Given the description of an element on the screen output the (x, y) to click on. 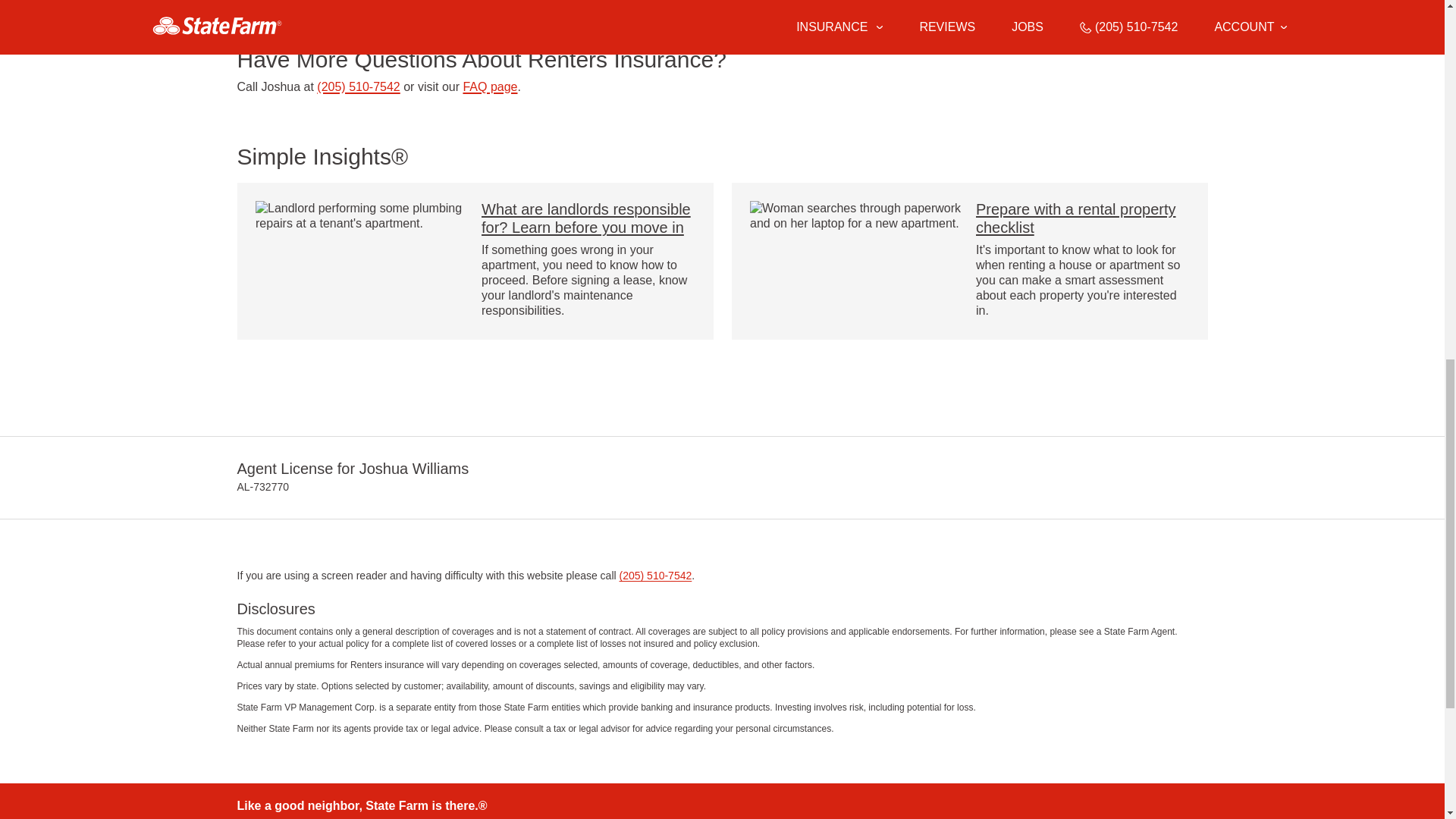
FAQ page (489, 86)
